Given the description of an element on the screen output the (x, y) to click on. 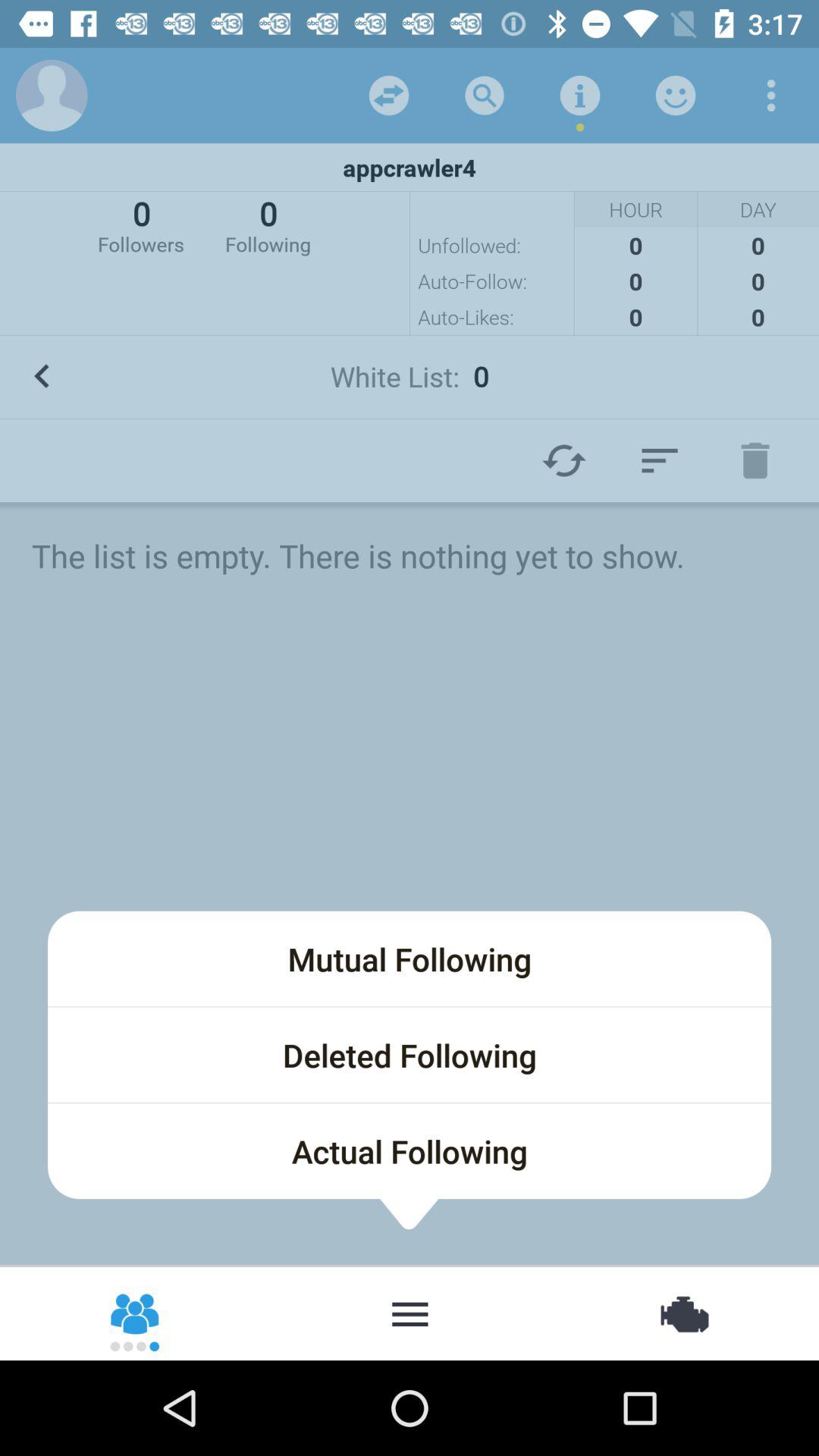
open user profile tab (51, 95)
